Given the description of an element on the screen output the (x, y) to click on. 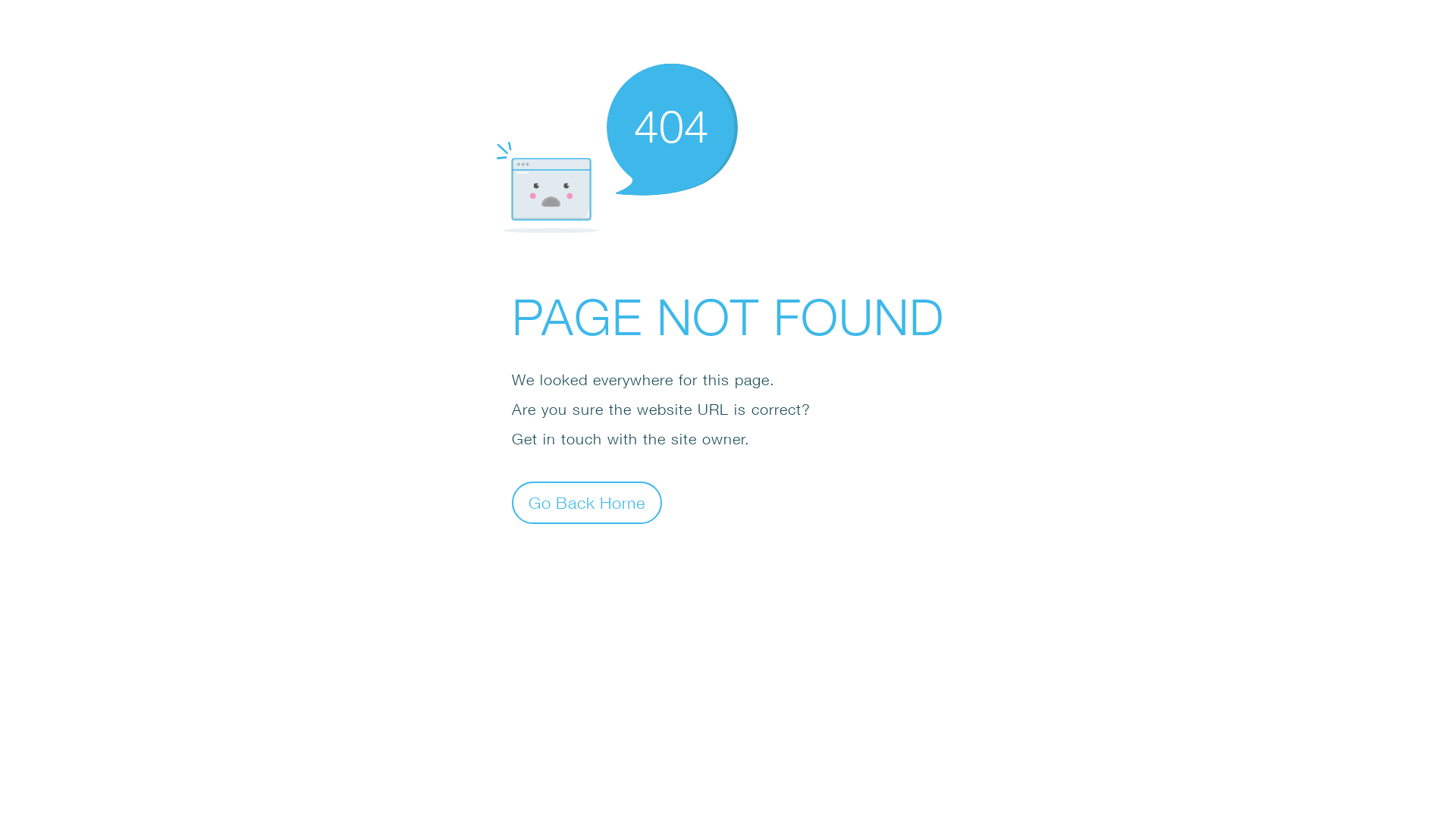
Go Back Home Element type: text (586, 502)
